Given the description of an element on the screen output the (x, y) to click on. 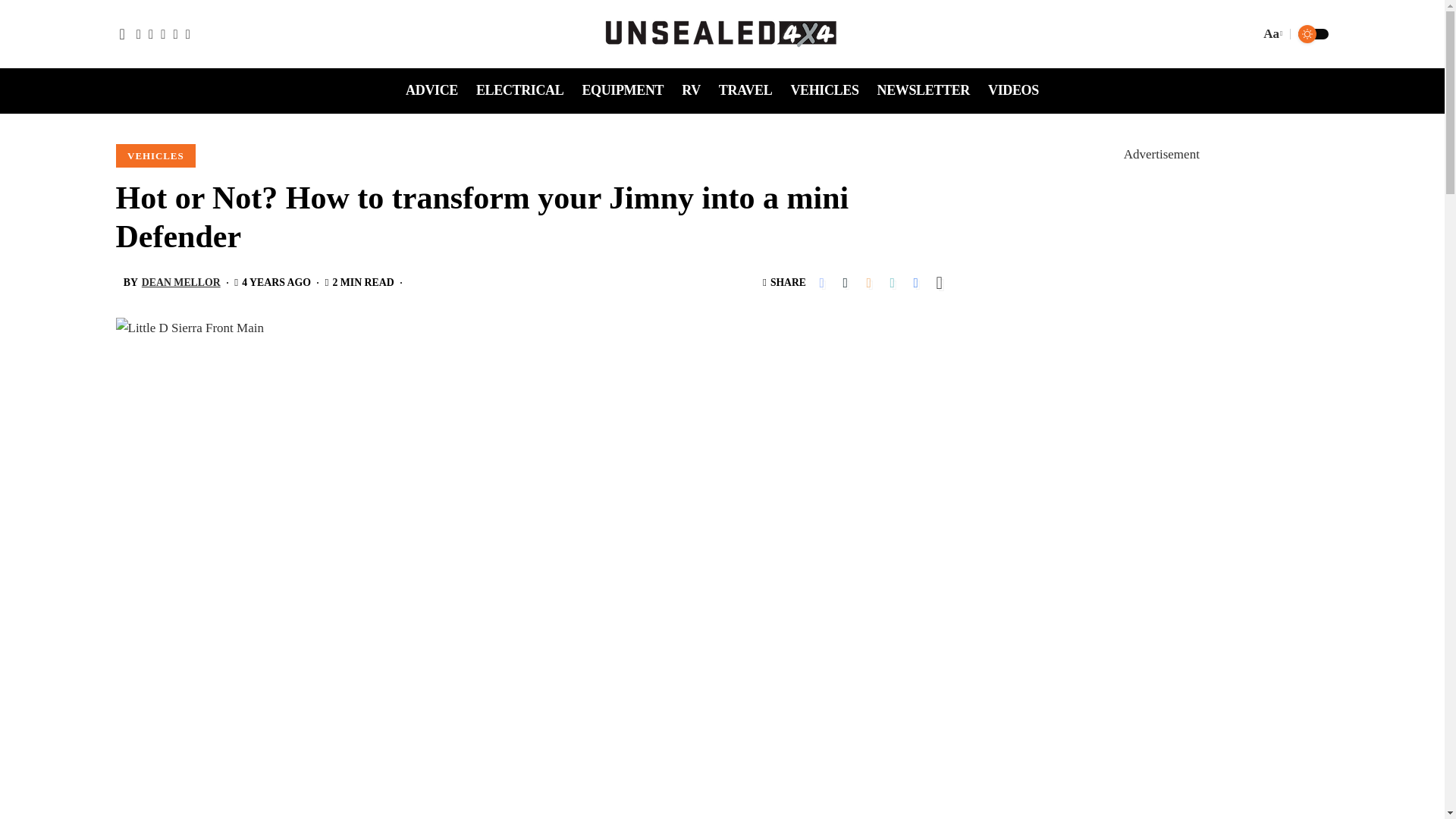
TRAVEL (745, 90)
VEHICLES (823, 90)
Aa (1270, 34)
EQUIPMENT (622, 90)
ELECTRICAL (519, 90)
ADVICE (431, 90)
NEWSLETTER (922, 90)
VIDEOS (1013, 90)
Unsealed 4X4 (721, 33)
